Given the description of an element on the screen output the (x, y) to click on. 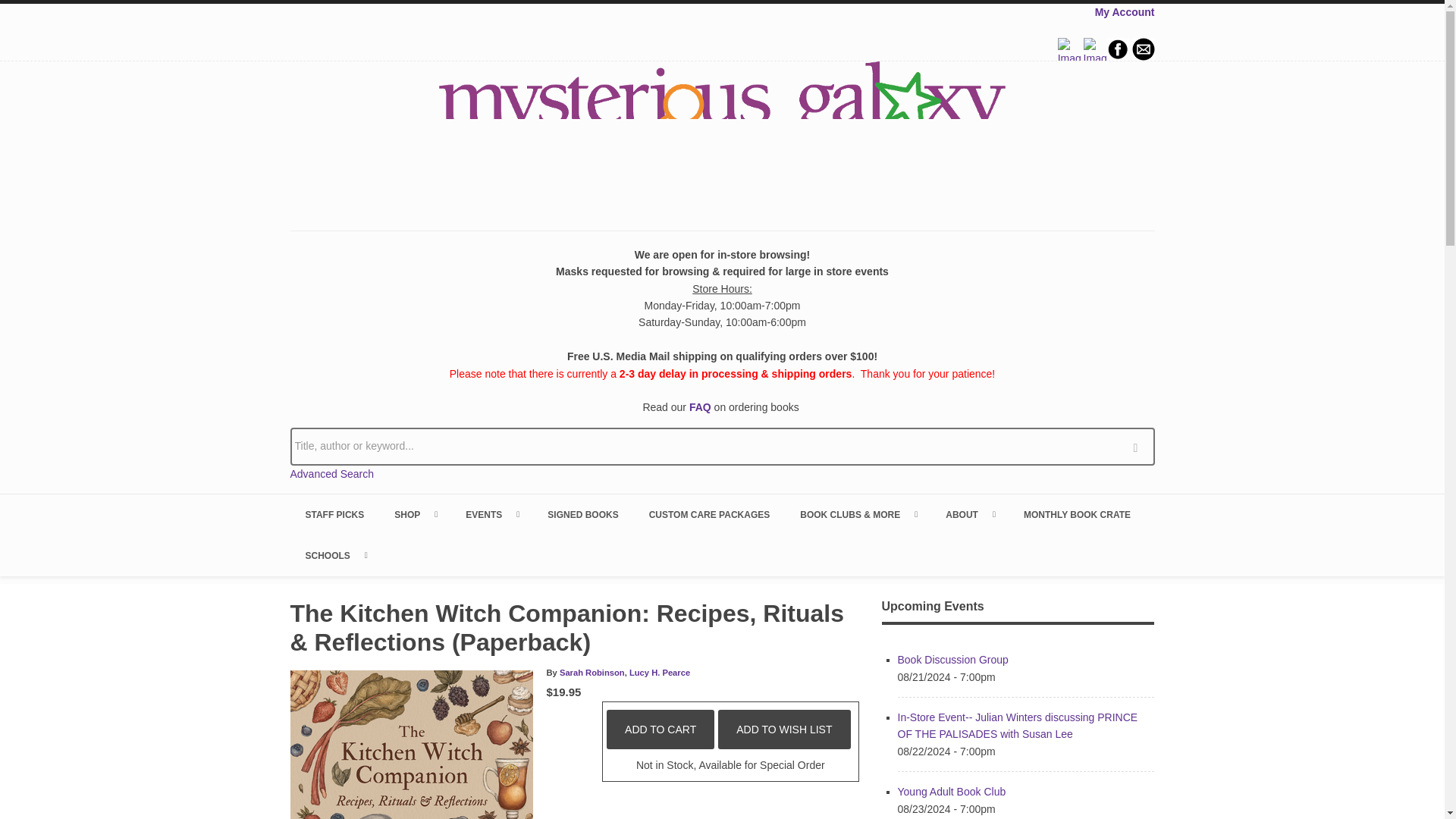
FAQ (699, 407)
Add to Wish List (783, 729)
SHOP (413, 514)
Add to Cart (660, 729)
STAFF PICKS (333, 514)
EVENTS (490, 514)
Home (722, 134)
Advanced Search (331, 473)
My Account (1124, 11)
